Given the description of an element on the screen output the (x, y) to click on. 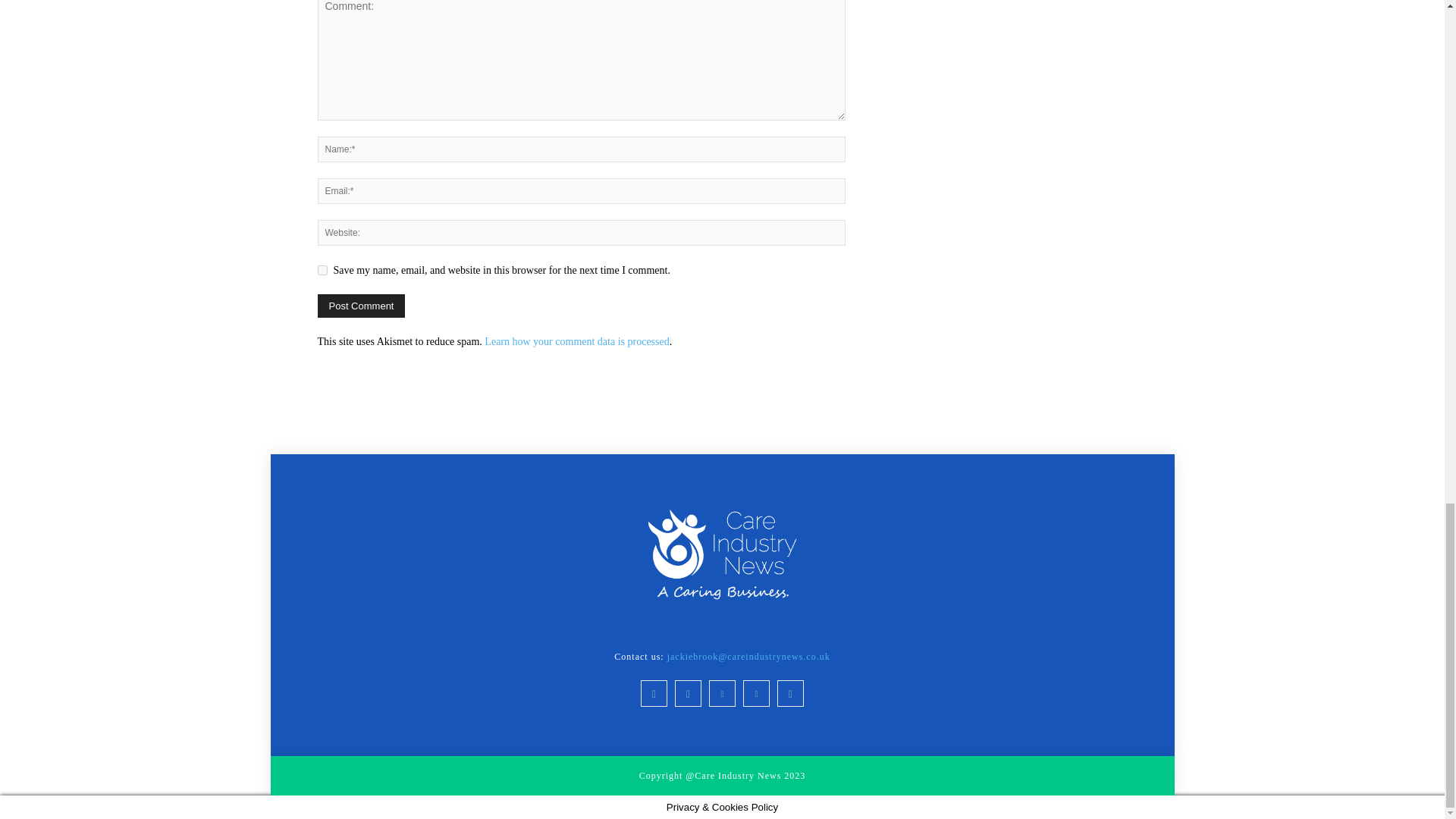
Post Comment (360, 305)
yes (321, 270)
